Given the description of an element on the screen output the (x, y) to click on. 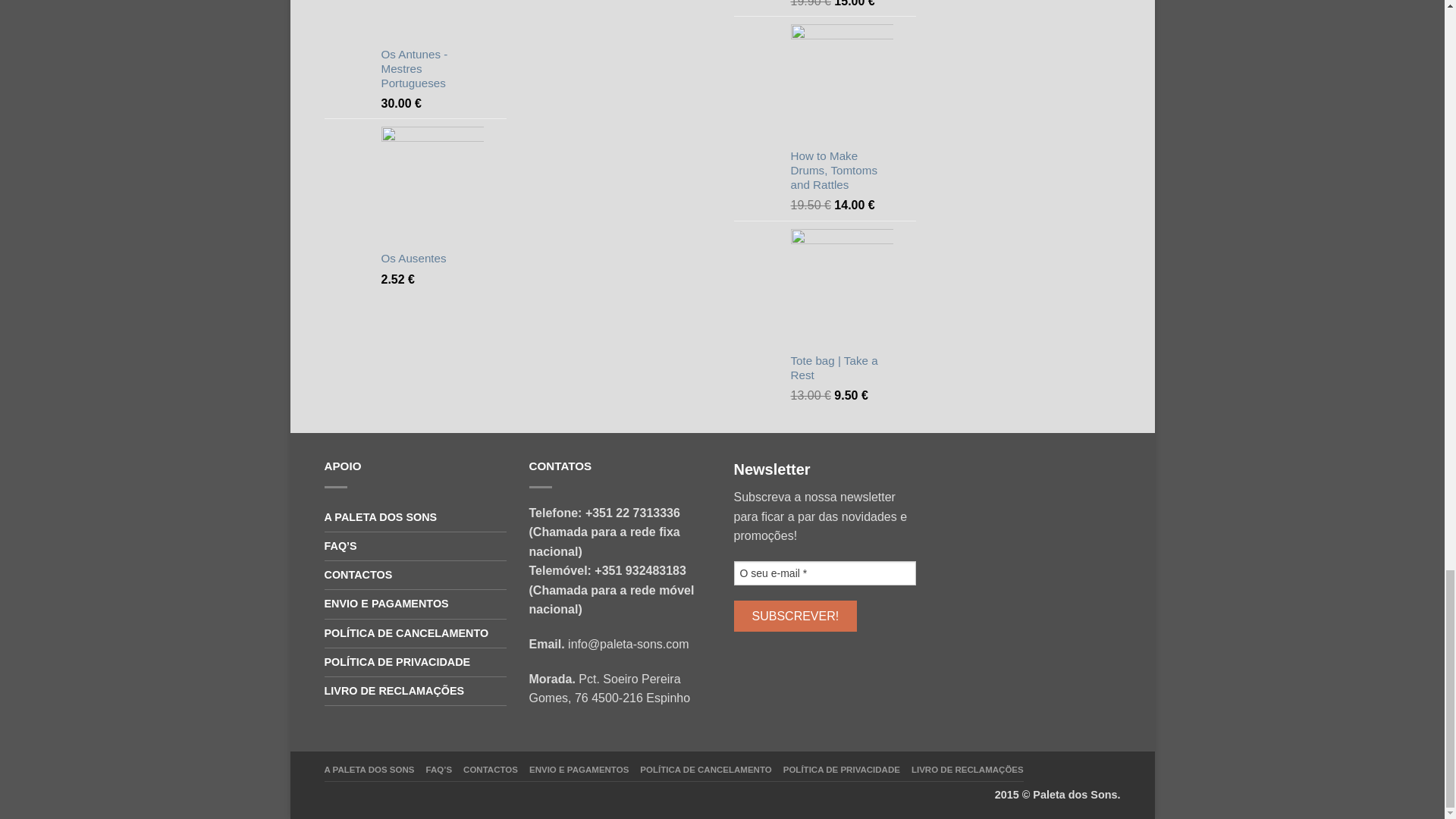
Subscrever! (795, 615)
